Given the description of an element on the screen output the (x, y) to click on. 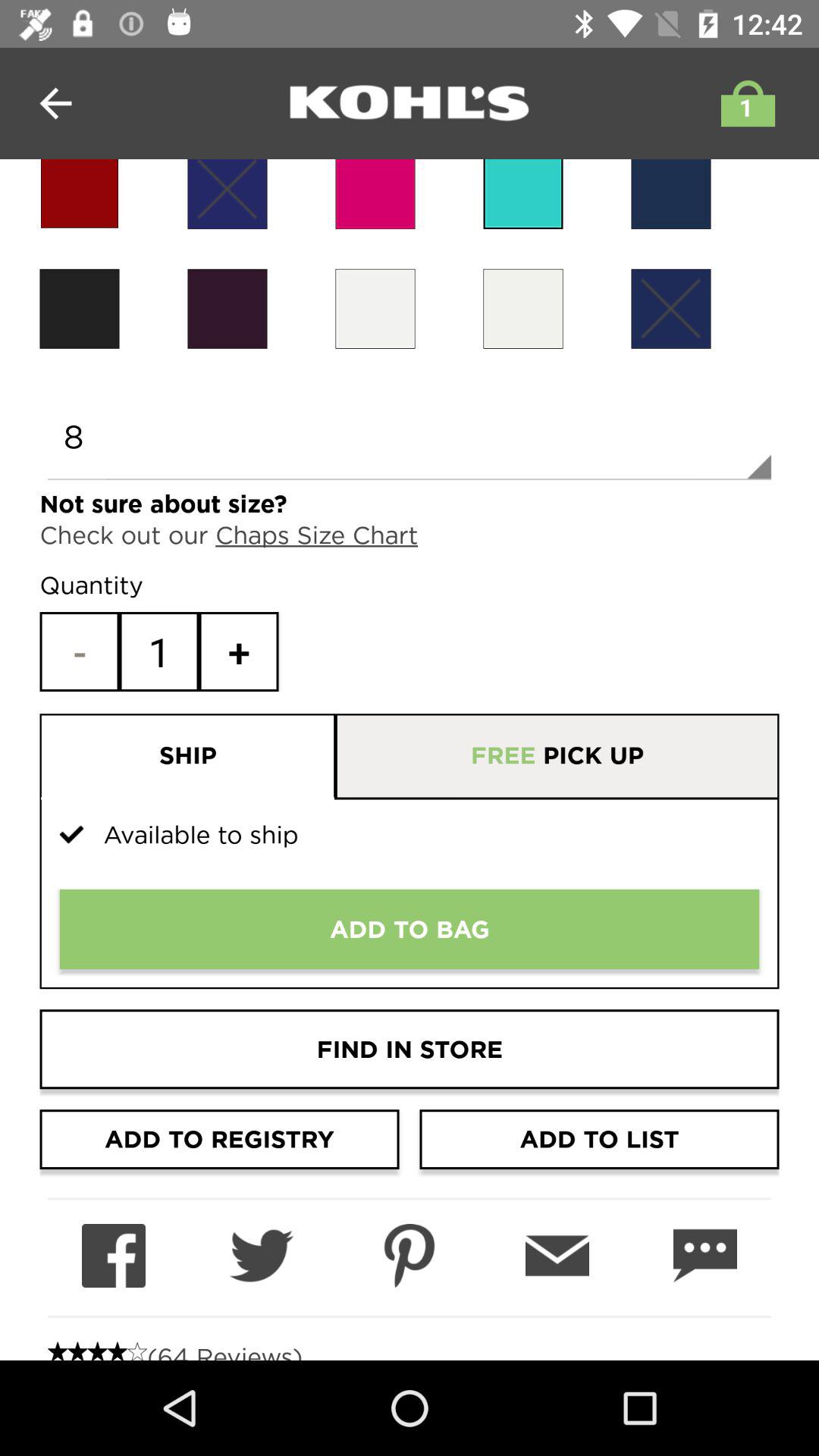
navigate to home page (409, 103)
